Given the description of an element on the screen output the (x, y) to click on. 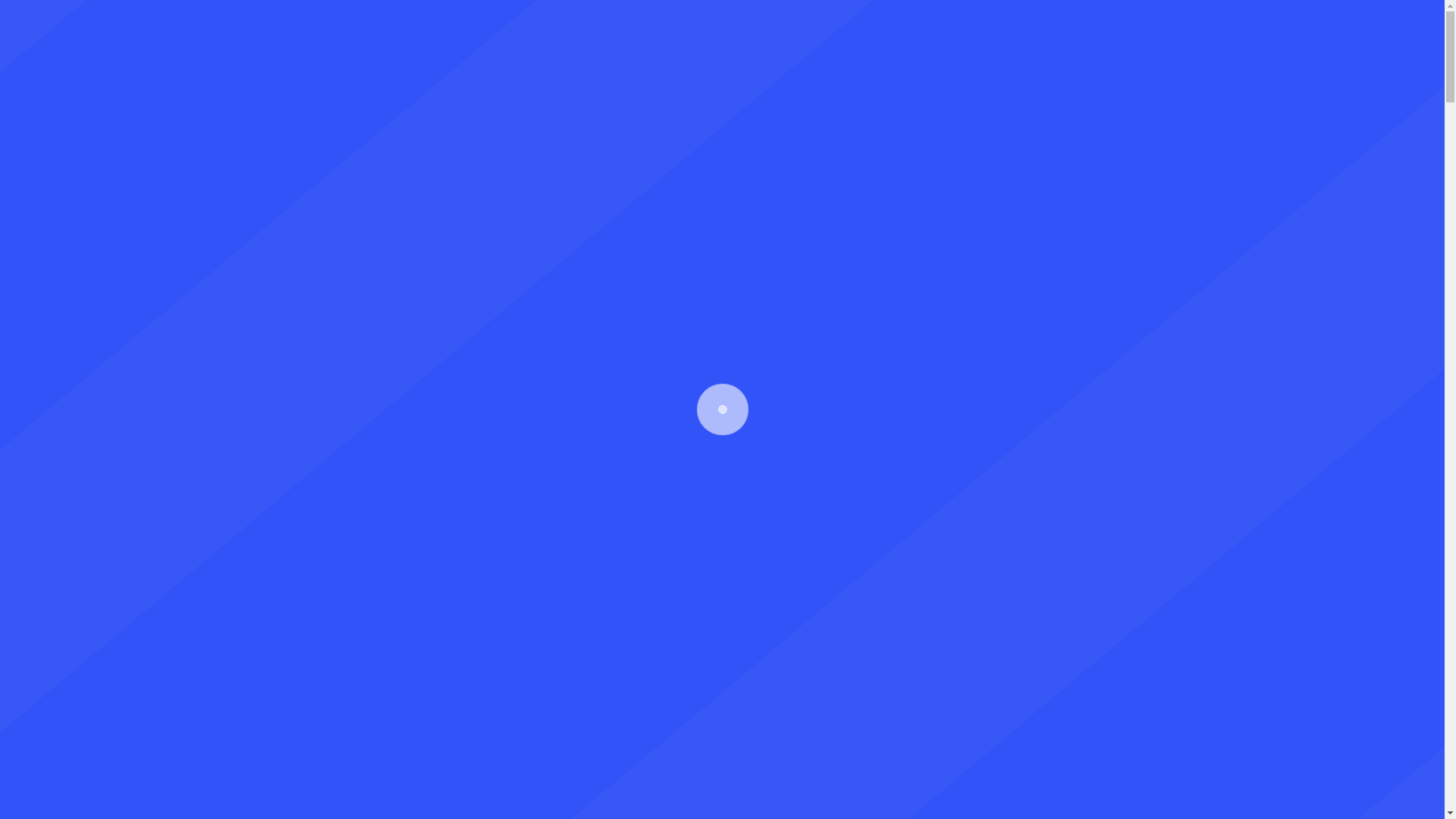
Projects (950, 72)
Free Consulting (1252, 72)
Custom Home Build (583, 72)
Remodeling (713, 72)
Roofing (805, 72)
About (470, 72)
